Given the description of an element on the screen output the (x, y) to click on. 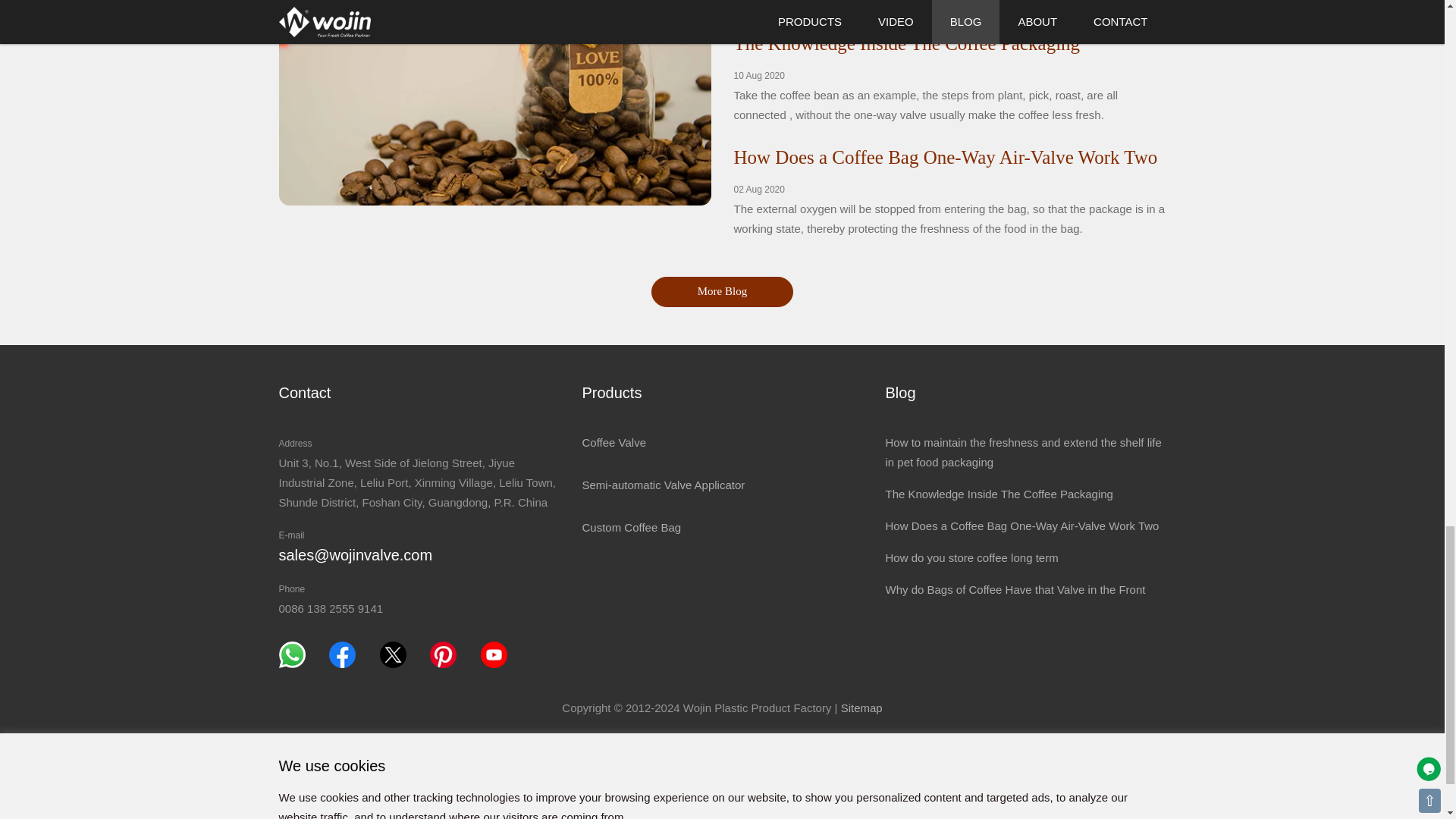
How Does a Coffee Bag One-Way Air-Valve Work Two (1021, 525)
How do you store coffee long term (971, 557)
The Knowledge Inside The Coffee Packaging (998, 493)
How Does a Coffee Bag One-Way Air-Valve Work Two (945, 157)
Sitemap (861, 707)
How Does a Coffee Bag One-Way Air-Valve Work Two (945, 157)
Why do Bags of Coffee Have that Valve in the Front (1014, 589)
The Knowledge Inside The Coffee Packaging (906, 43)
Semi-automatic Valve Applicator (662, 484)
